Given the description of an element on the screen output the (x, y) to click on. 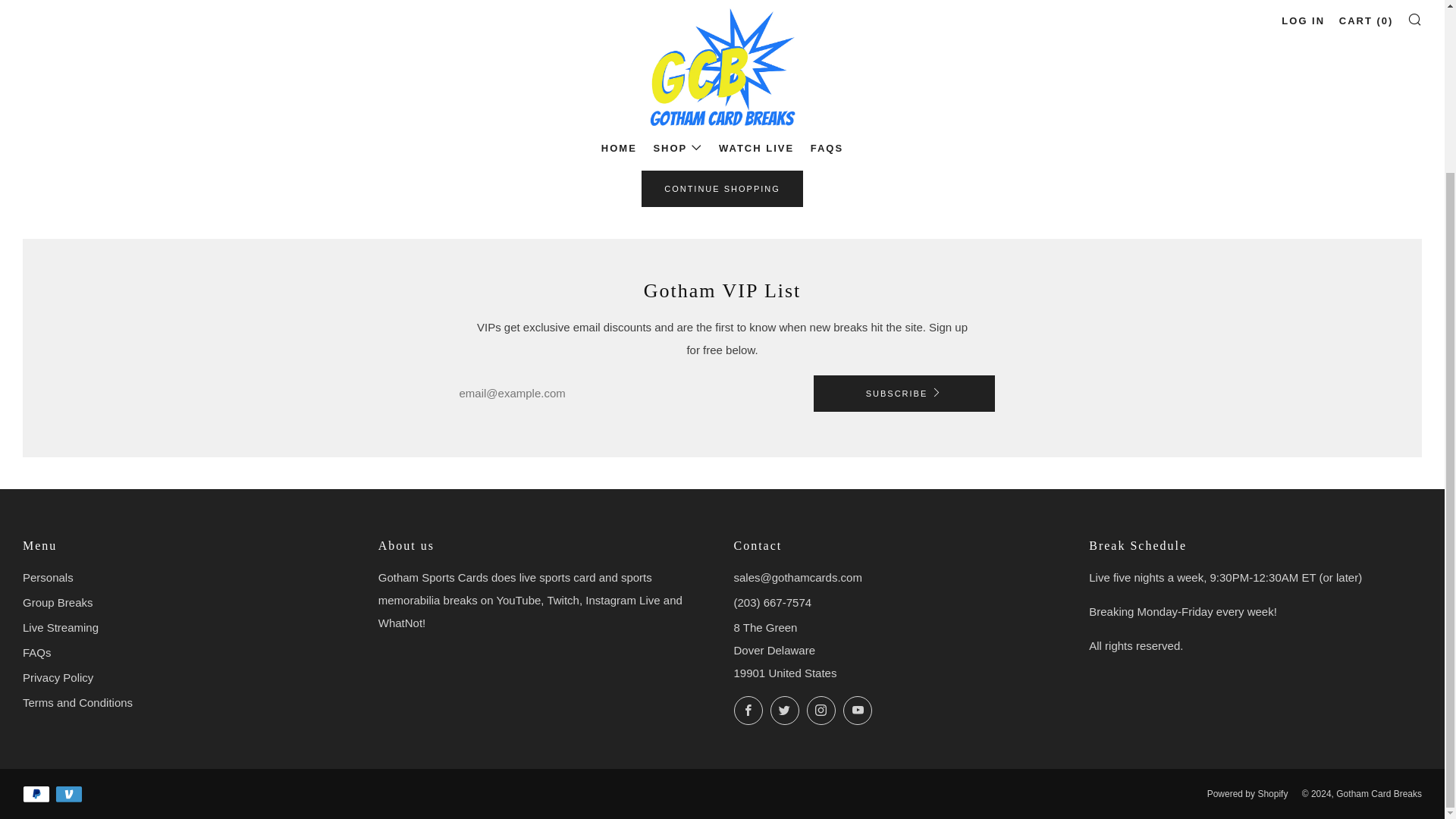
FAQs (36, 652)
Facebook (747, 710)
YouTube (857, 710)
Group Breaks (58, 602)
Powered by Shopify (1247, 793)
Live Streaming (61, 626)
Twitter (784, 710)
Terms and Conditions (77, 702)
CONTINUE SHOPPING (722, 188)
Privacy Policy (58, 676)
